Given the description of an element on the screen output the (x, y) to click on. 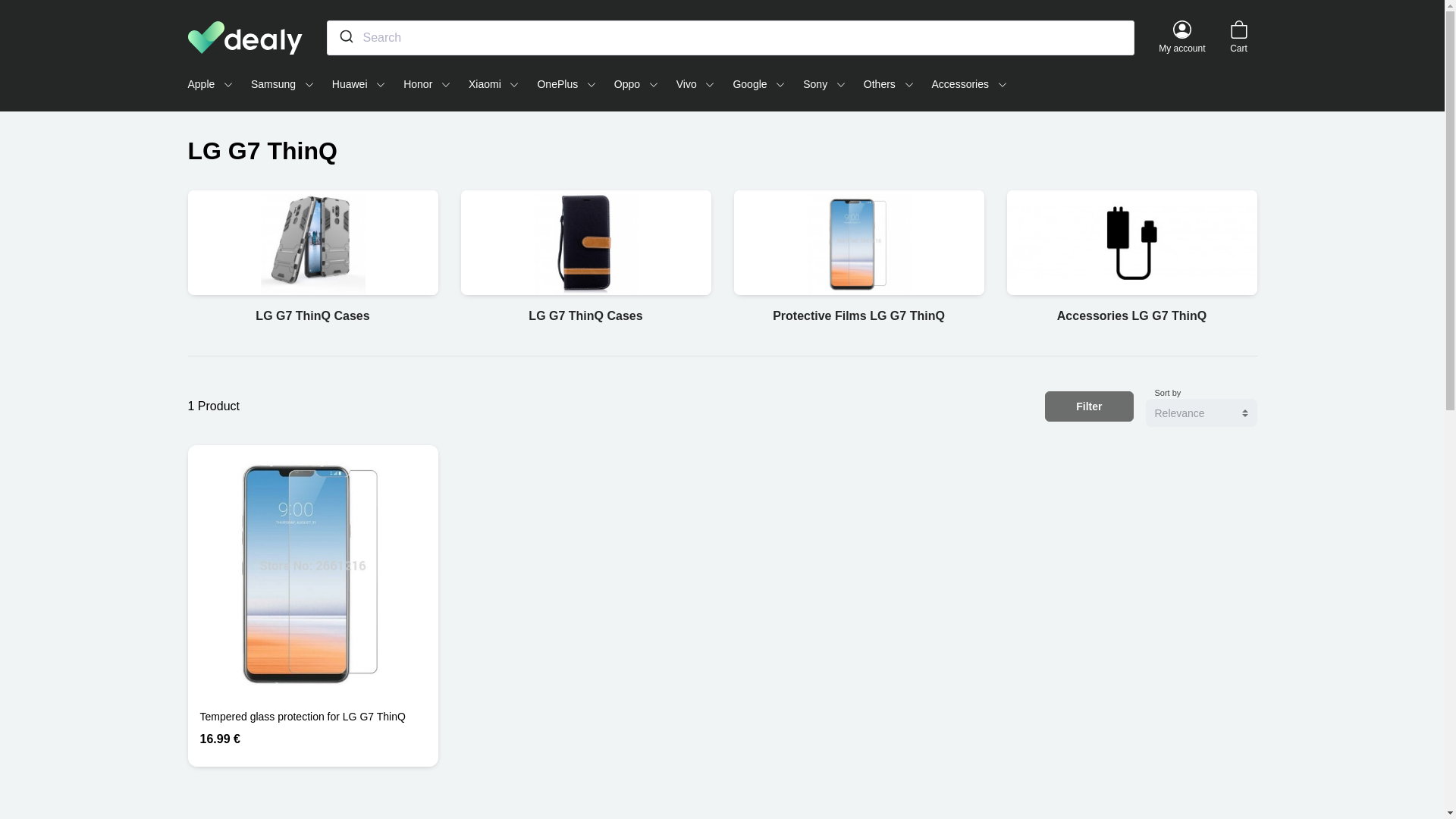
View my customer account (1181, 37)
Apple   (209, 83)
Dealy - Cases and accessories for smartphones and tablets (244, 37)
Submit (344, 36)
My account (1181, 37)
